Given the description of an element on the screen output the (x, y) to click on. 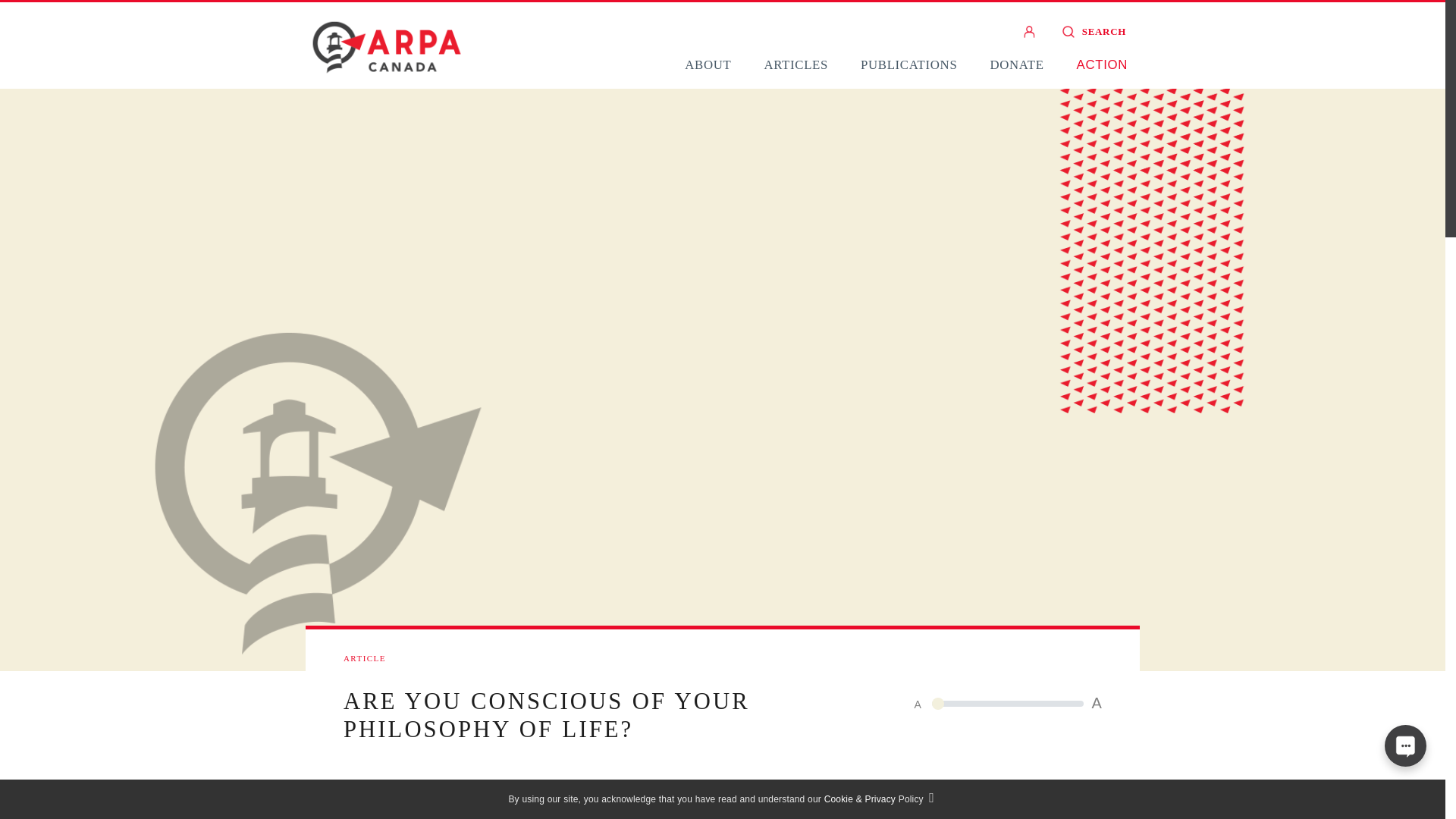
ABOUT (707, 64)
ACTION (1101, 64)
14 (1007, 703)
ARTICLES (795, 64)
PUBLICATIONS (909, 64)
DONATE (1016, 64)
